Given the description of an element on the screen output the (x, y) to click on. 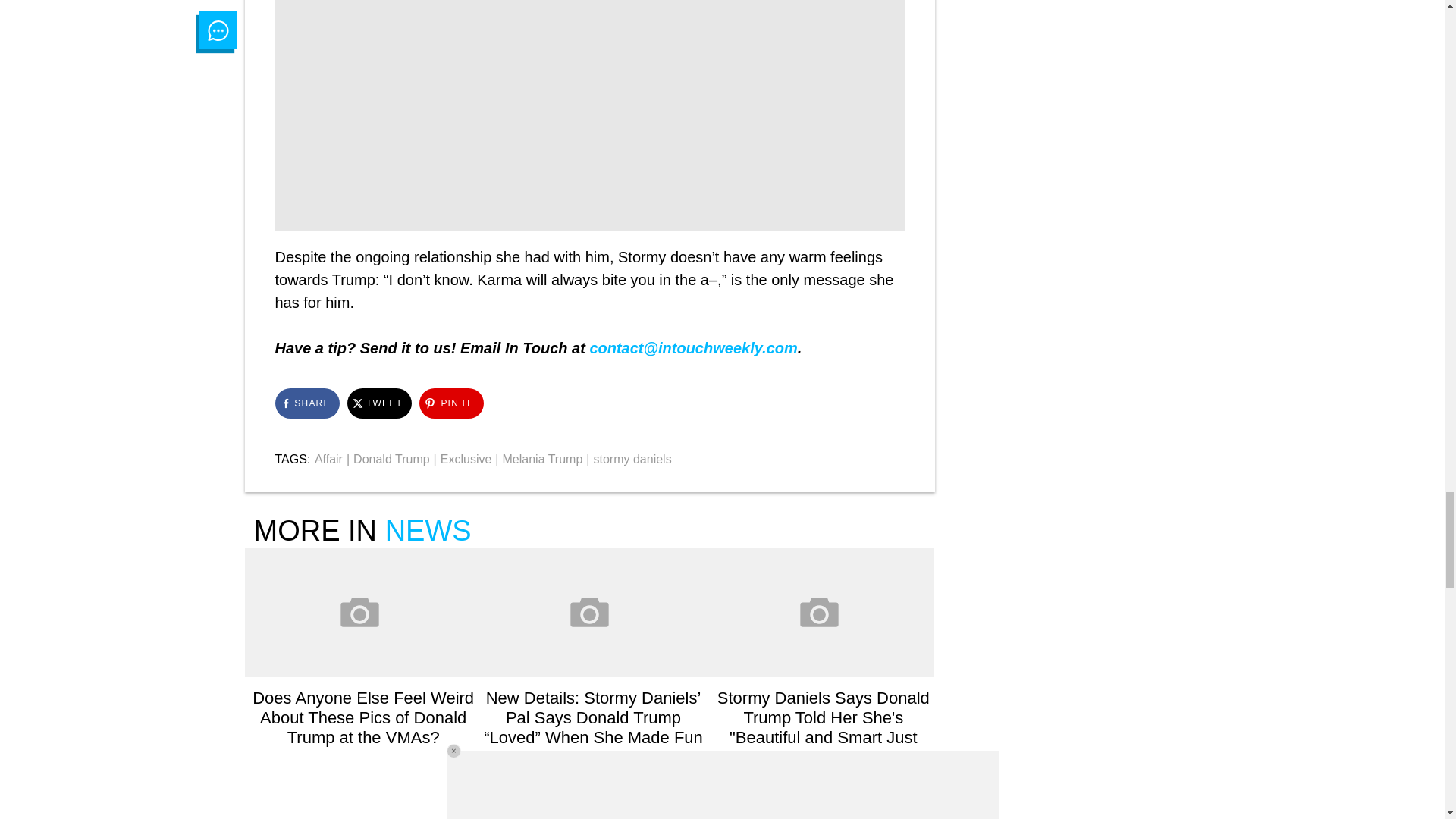
Click to share on Facebook (307, 403)
Click to share on Twitter (379, 403)
Click to share on Pinterest (451, 403)
